Given the description of an element on the screen output the (x, y) to click on. 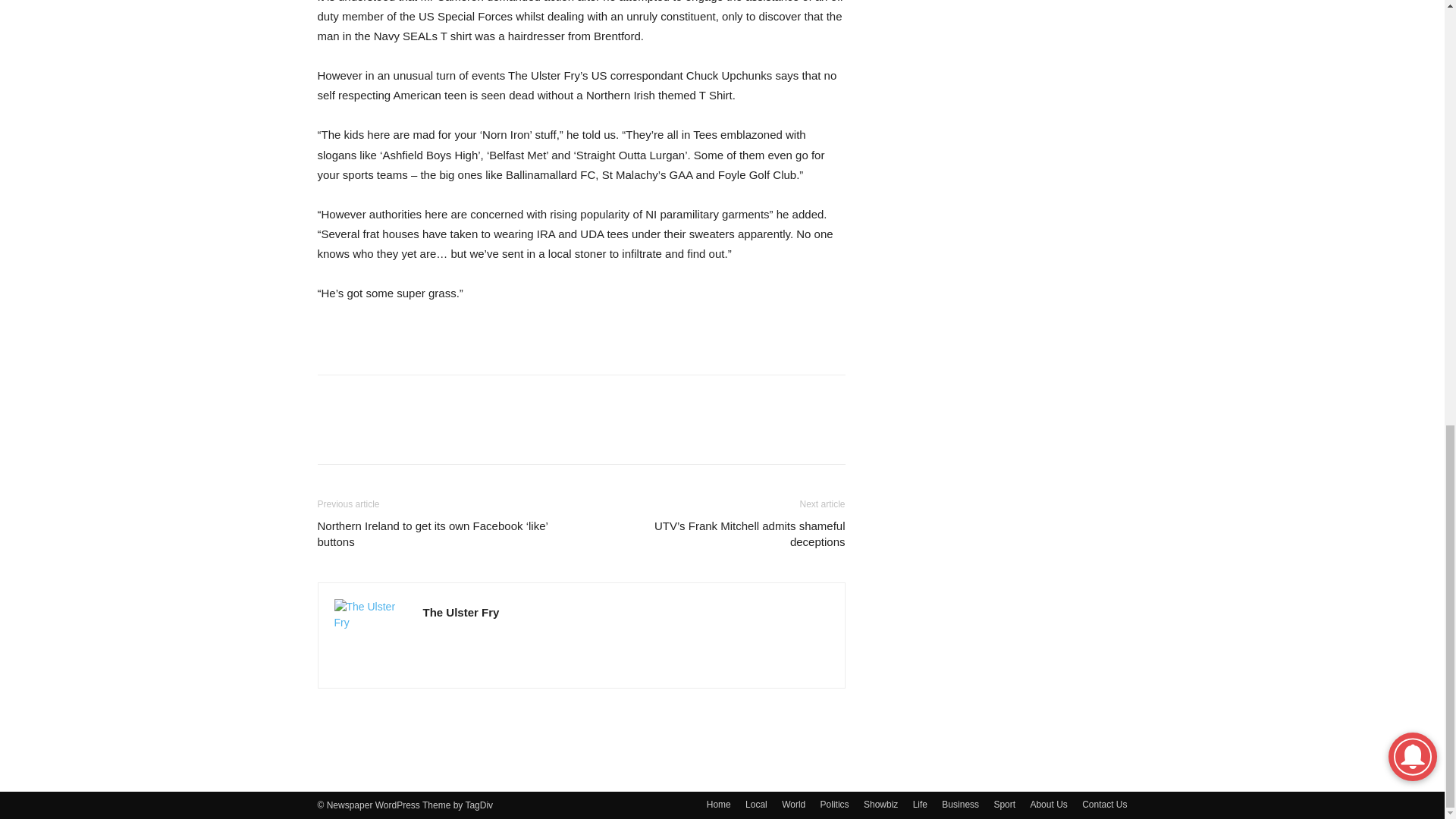
World (793, 804)
Politics (834, 804)
Business (960, 804)
Local (756, 804)
Life (919, 804)
Sport (1003, 804)
About Us (1048, 804)
Showbiz (880, 804)
The Ulster Fry (461, 612)
Home (718, 804)
